Given the description of an element on the screen output the (x, y) to click on. 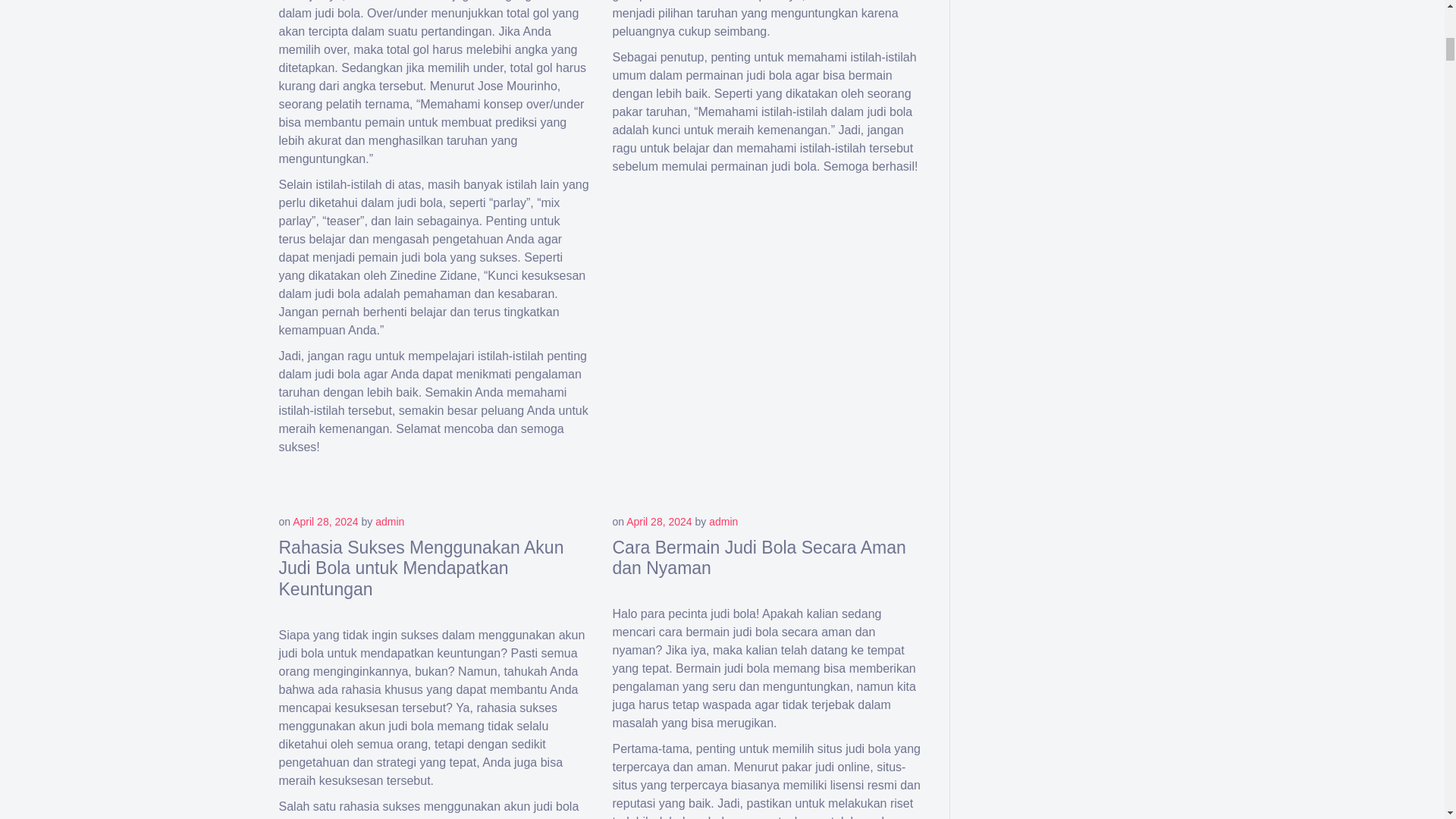
admin (723, 521)
admin (389, 521)
April 28, 2024 (325, 521)
April 28, 2024 (658, 521)
Cara Bermain Judi Bola Secara Aman dan Nyaman (758, 557)
